Given the description of an element on the screen output the (x, y) to click on. 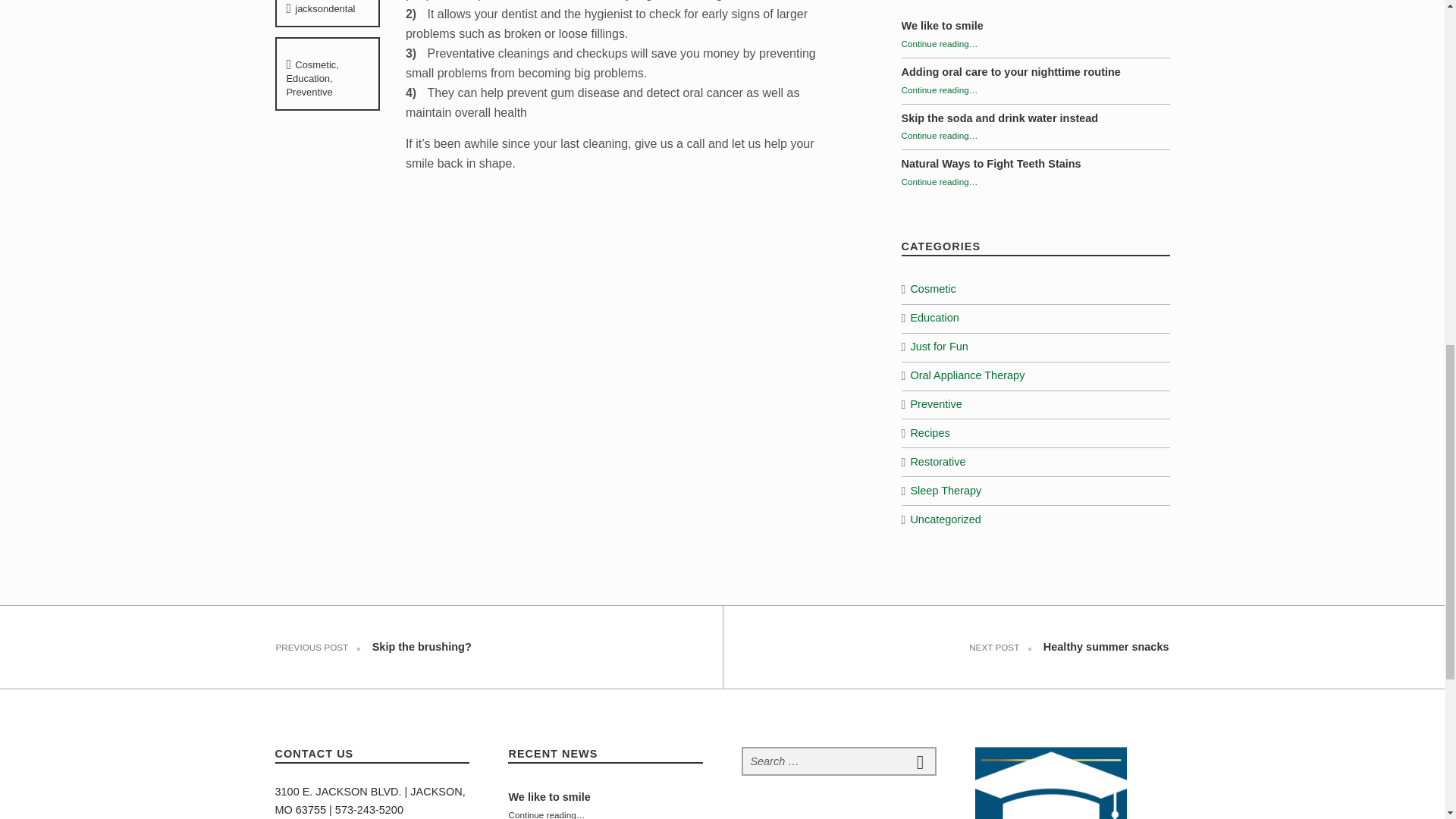
Adding oral care to your nighttime routine (1010, 71)
Search (920, 760)
Education (307, 78)
Natural Ways to Fight Teeth Stains (990, 163)
Cosmetic (315, 64)
We like to smile (941, 25)
Search (920, 760)
Skip the soda and drink water instead (999, 118)
Preventive (308, 91)
